Given the description of an element on the screen output the (x, y) to click on. 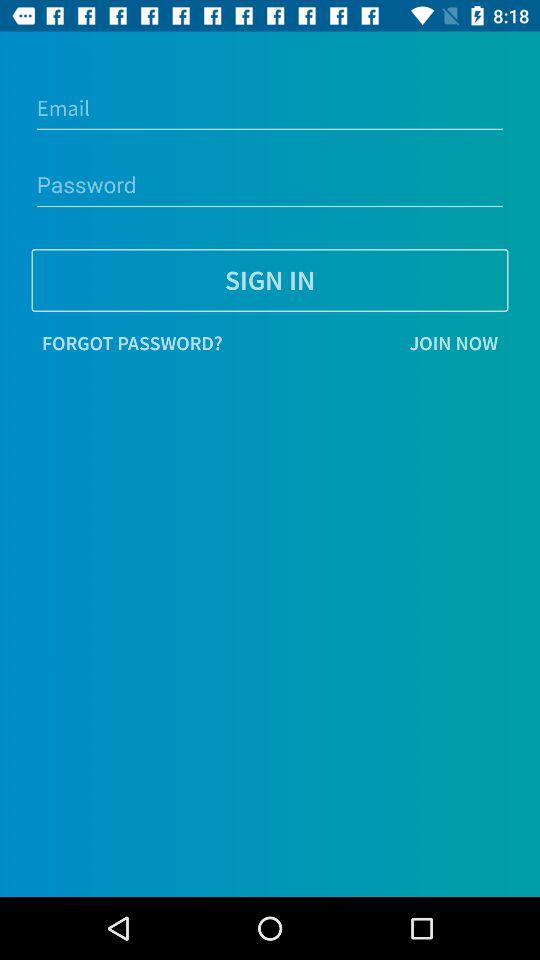
turn on the item next to the forgot password? item (370, 343)
